Given the description of an element on the screen output the (x, y) to click on. 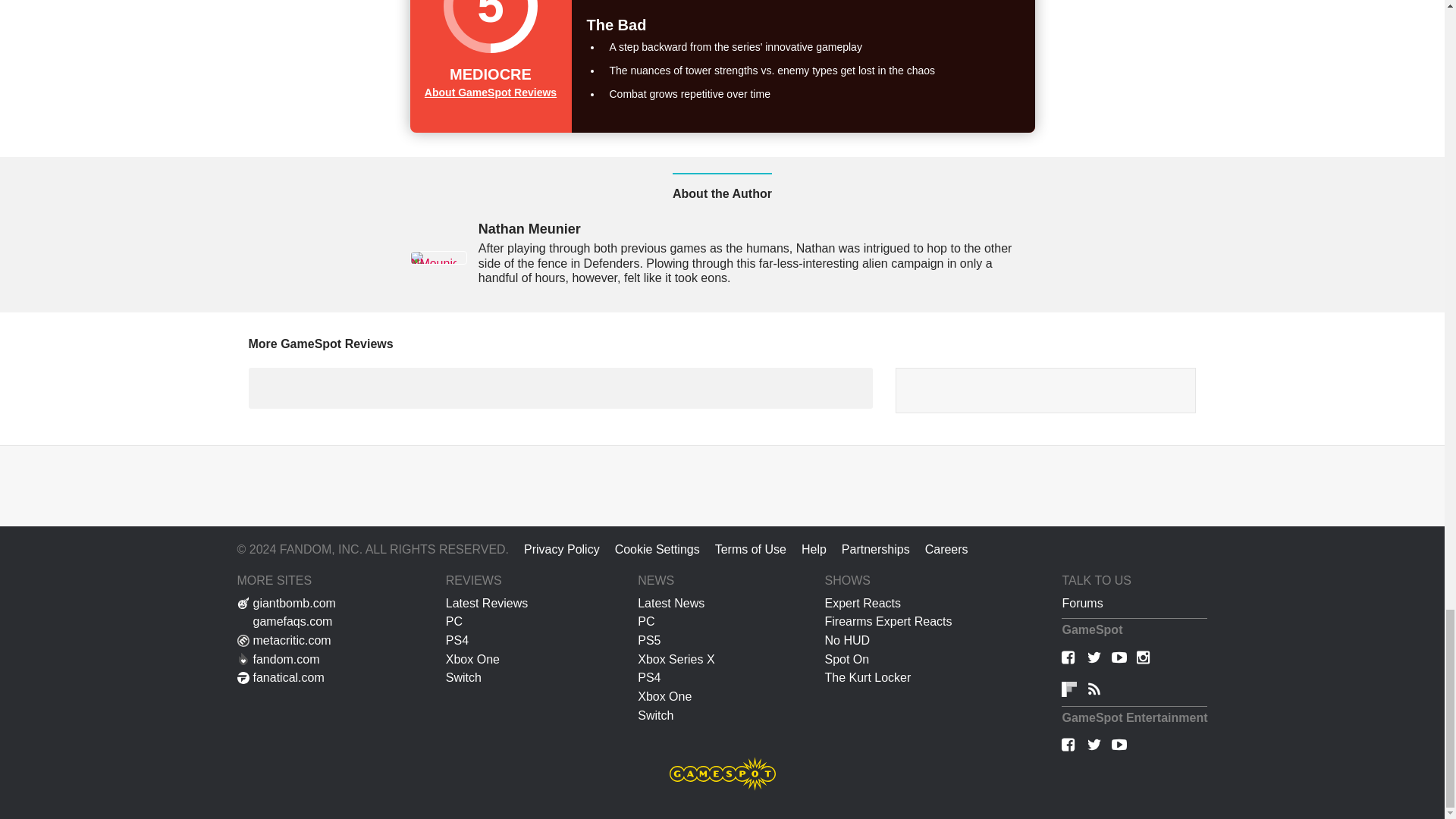
RSS Feeds (1094, 690)
